Given the description of an element on the screen output the (x, y) to click on. 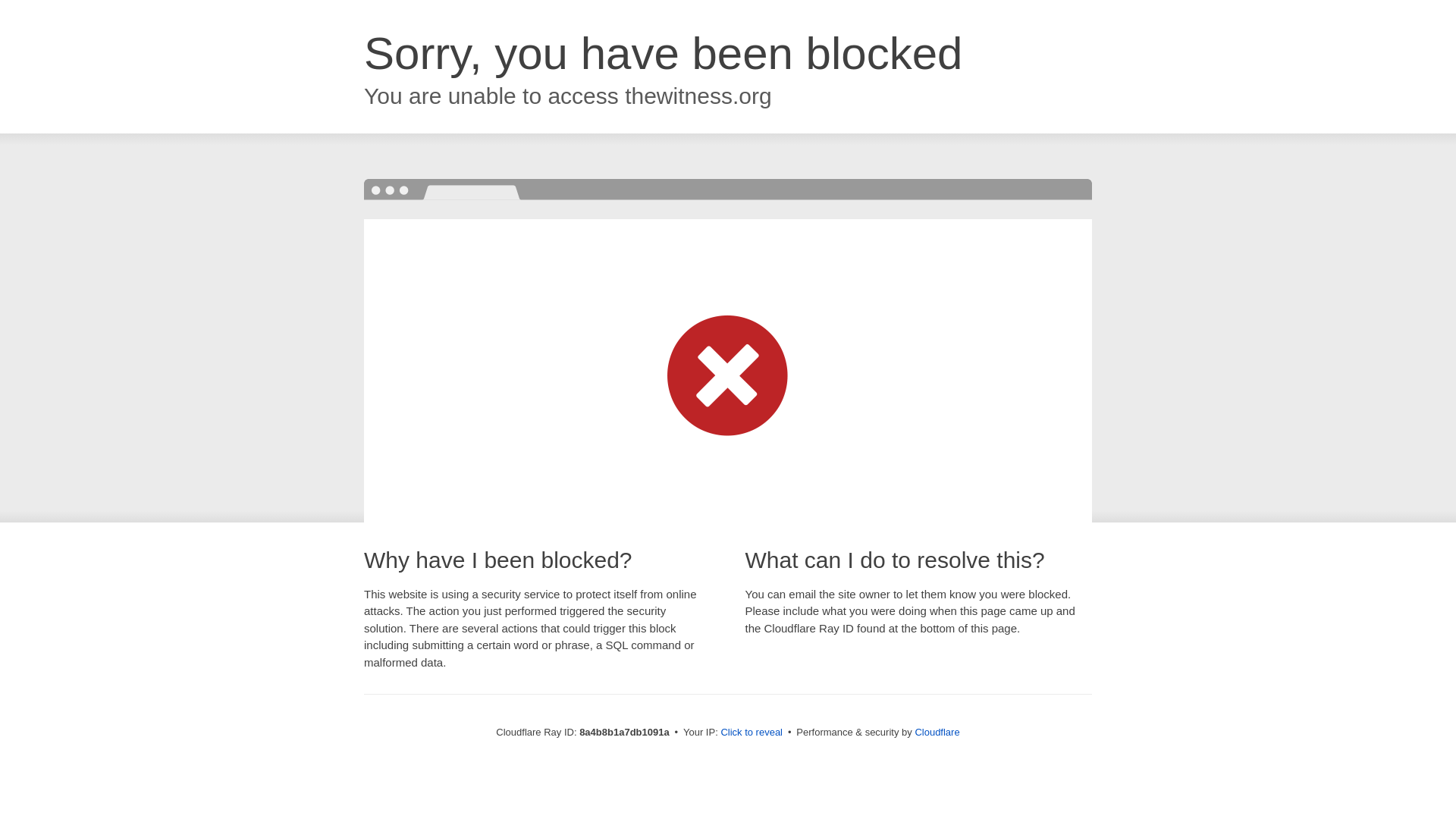
Click to reveal (751, 732)
Cloudflare (936, 731)
